Given the description of an element on the screen output the (x, y) to click on. 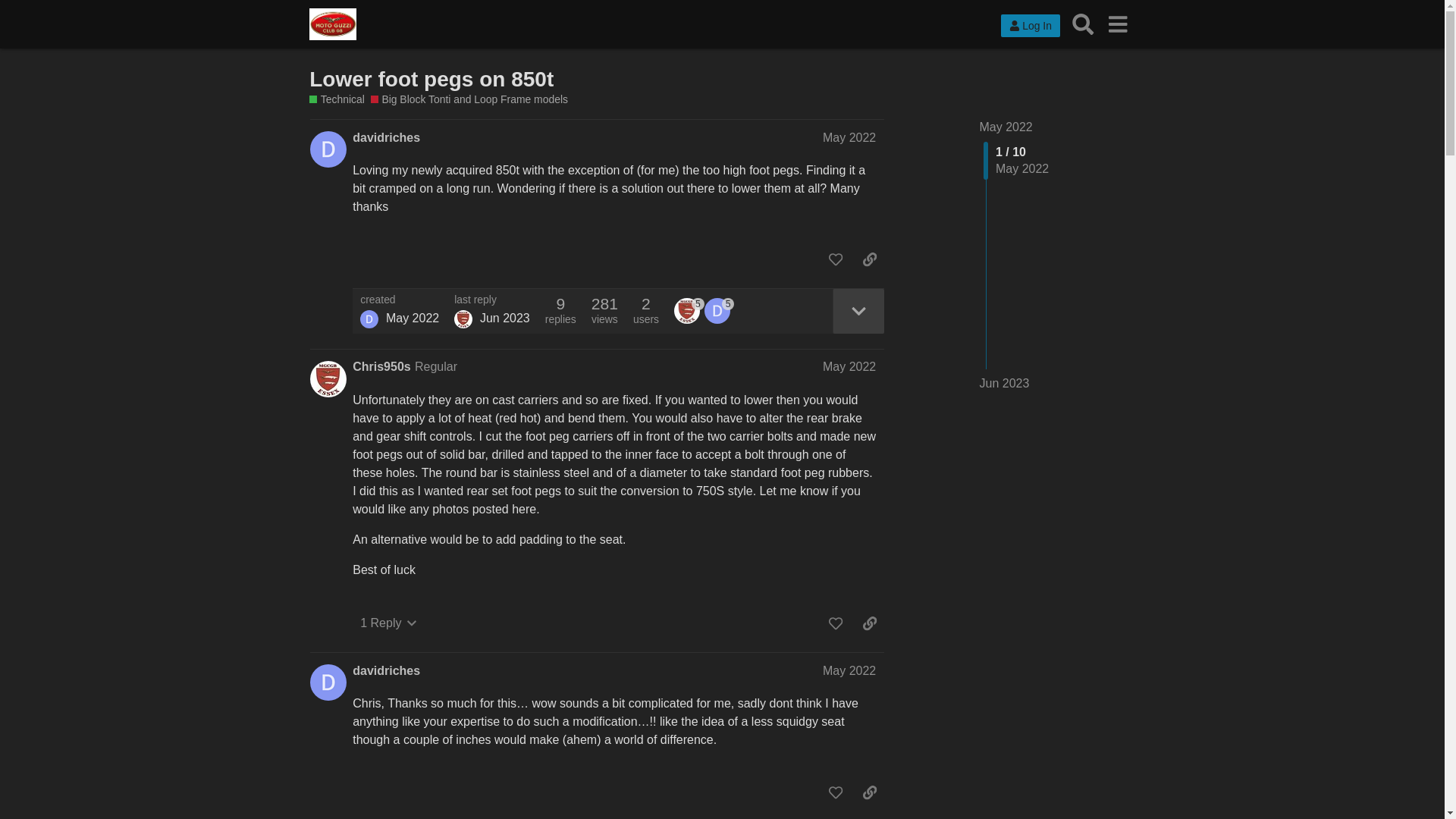
Jump to the first post (1005, 126)
last reply (491, 299)
May 2022 (849, 137)
expand topic details (857, 311)
Lower foot pegs on 850t (430, 78)
This category is purely for technical questions and issues! (336, 99)
Technical (336, 99)
davidriches (386, 137)
1 Reply (387, 623)
Chris and Karen (462, 319)
14 Jun 2023 14:57 (504, 318)
Big Block Tonti and Loop Frame models (469, 99)
Search (1082, 23)
Log In (1030, 25)
May 2022 (1005, 126)
